Given the description of an element on the screen output the (x, y) to click on. 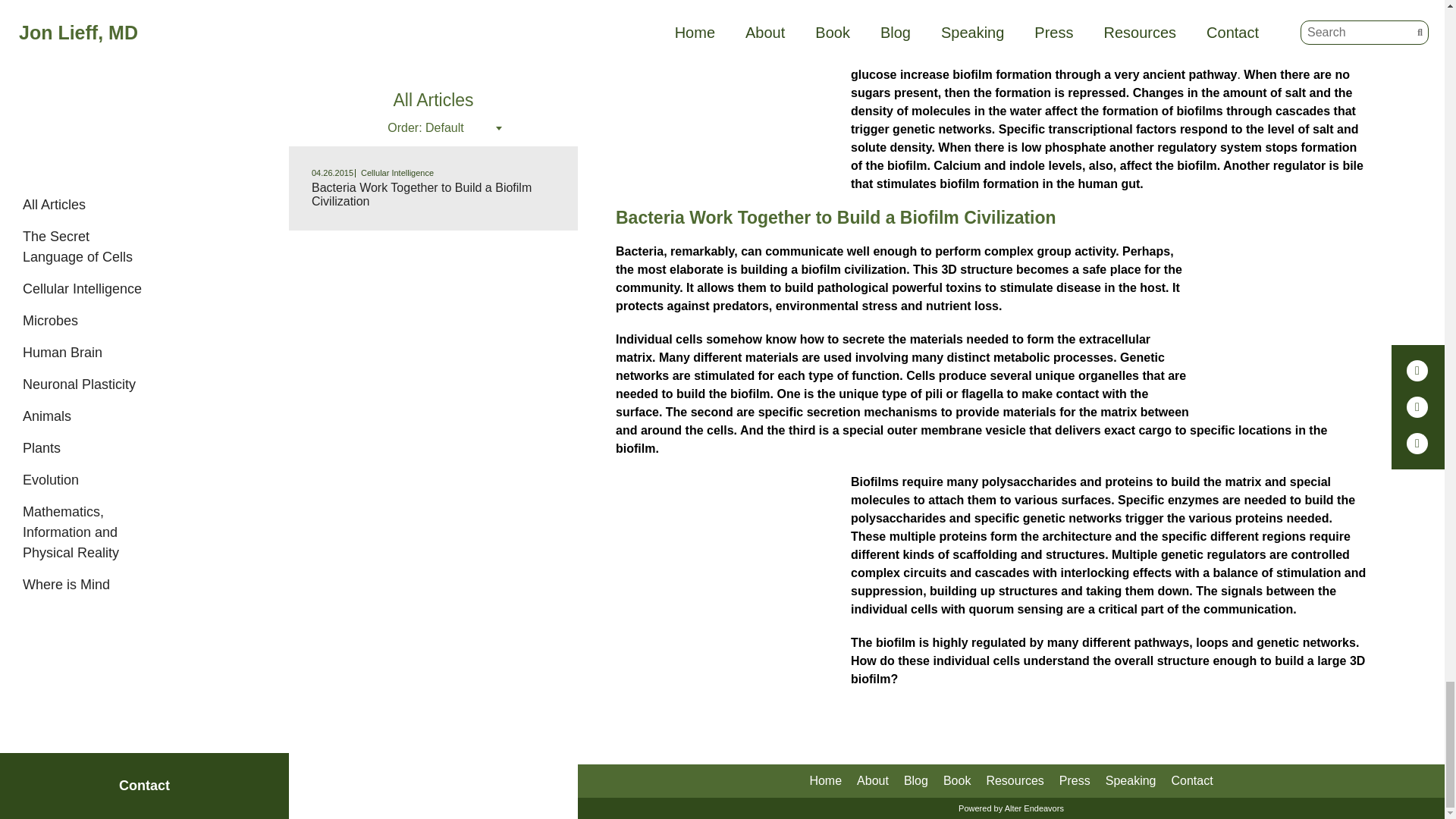
About (872, 780)
Book (957, 780)
Blog (916, 780)
Resources (1014, 780)
Press (1074, 780)
Speaking (1130, 780)
Home (825, 780)
